Given the description of an element on the screen output the (x, y) to click on. 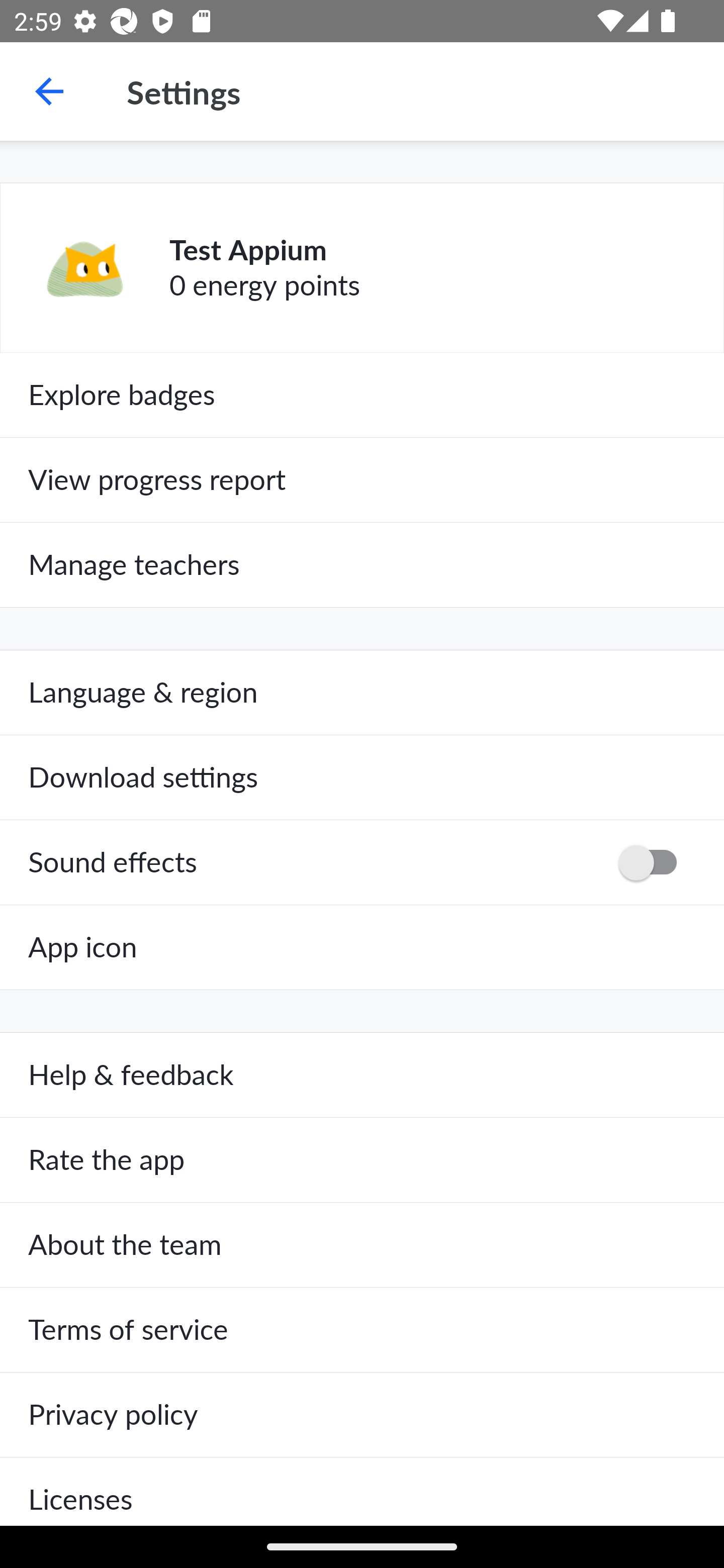
Navigate up (49, 91)
Explore badges (362, 394)
View progress report (362, 479)
Manage teachers (362, 565)
Language & region (362, 692)
Download settings (362, 777)
OFF (653, 861)
App icon (362, 946)
Help & feedback (362, 1075)
Rate the app (362, 1159)
About the team (362, 1244)
Terms of service (362, 1329)
Privacy policy (362, 1414)
Licenses (362, 1490)
